Given the description of an element on the screen output the (x, y) to click on. 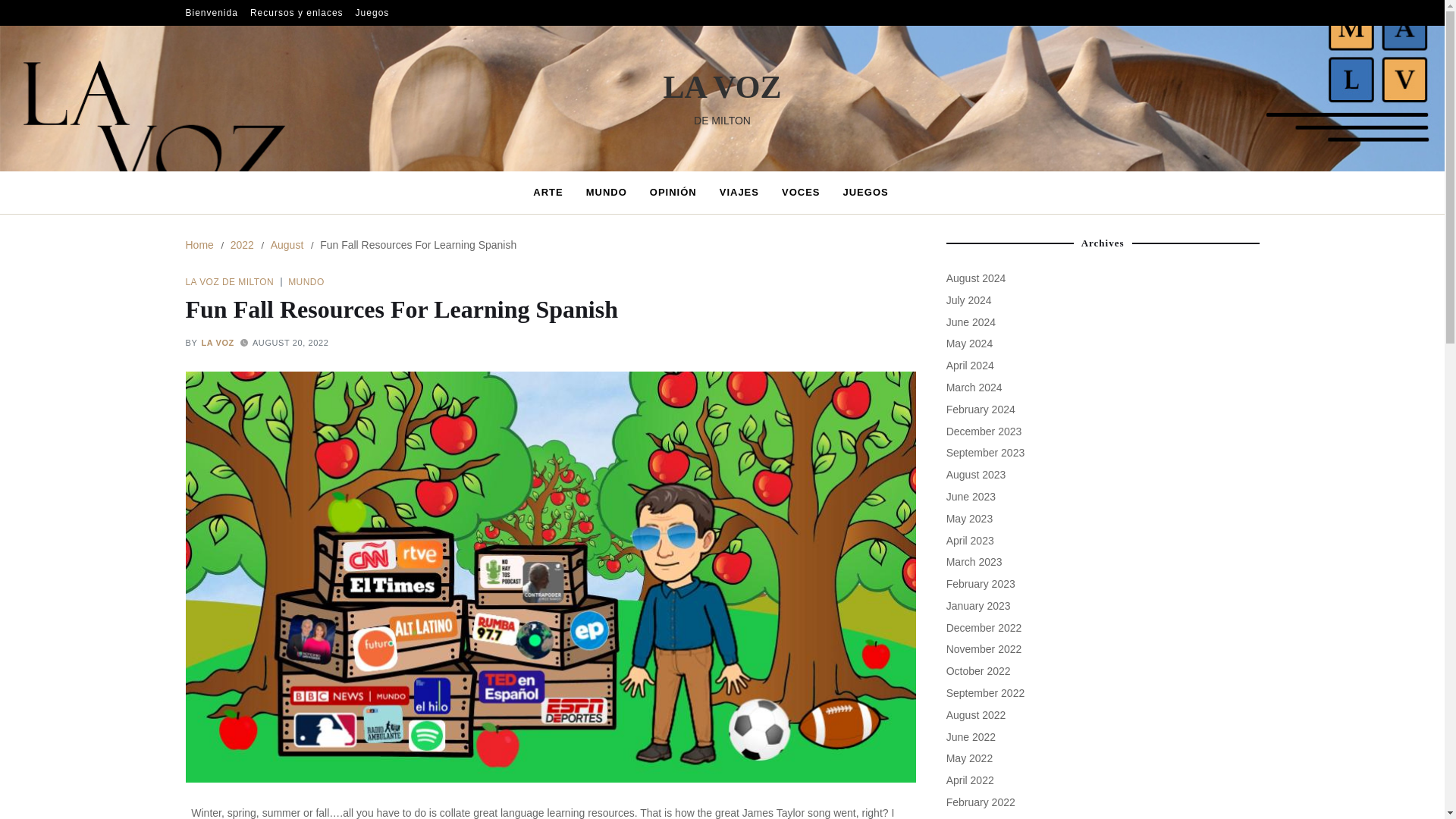
May 2023 (969, 518)
August (287, 244)
February 2023 (980, 583)
April 2024 (970, 365)
LA VOZ DE MILTON (233, 281)
VIAJES (738, 192)
Home (198, 244)
January 2023 (978, 605)
February 2024 (980, 409)
March 2024 (974, 387)
